Given the description of an element on the screen output the (x, y) to click on. 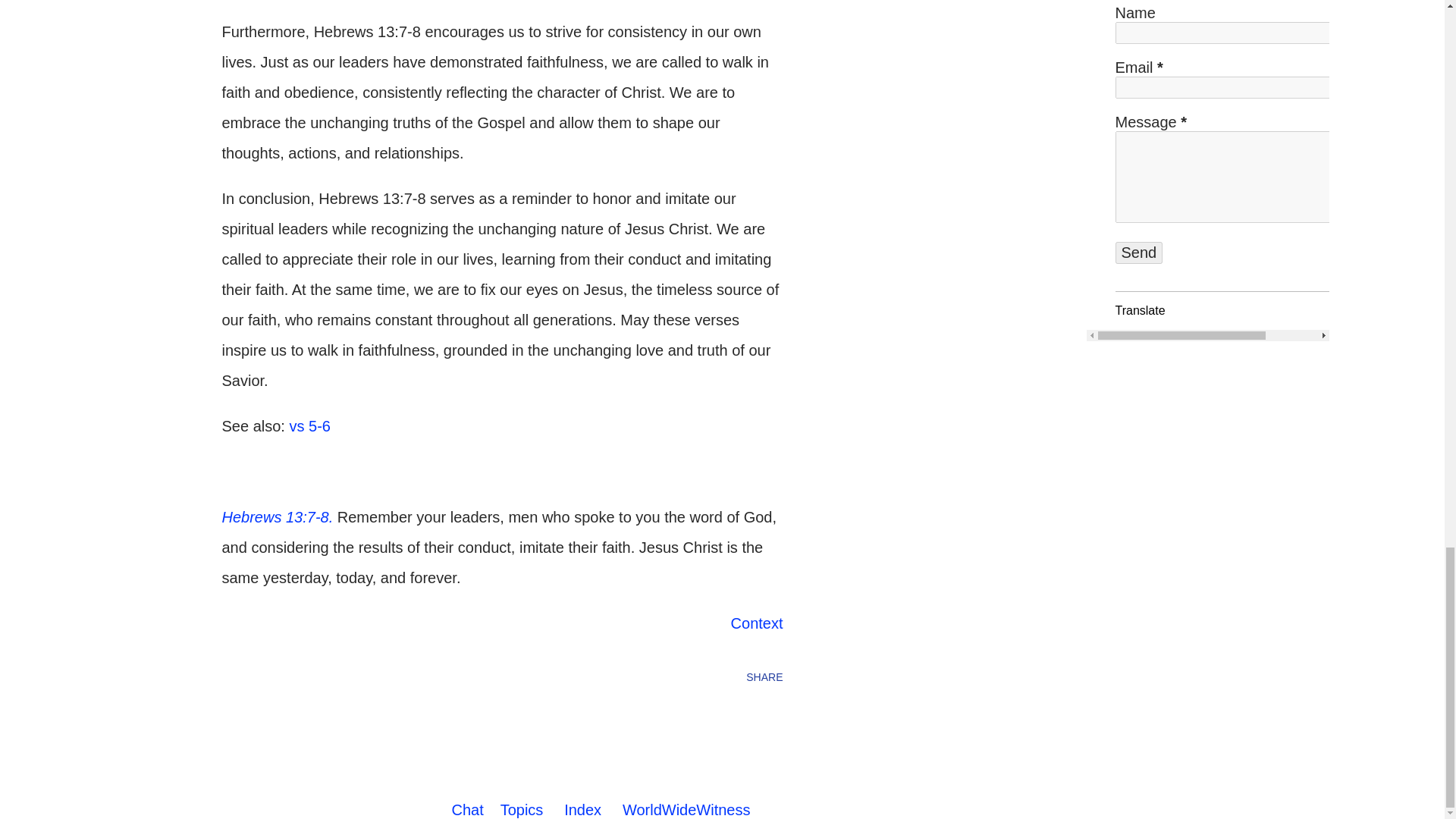
Email Post (230, 676)
Chat (467, 809)
SHARE (764, 677)
Send (1138, 252)
Topics (521, 809)
WorldWideWitness (687, 809)
vs 5-6 (309, 425)
Index (582, 809)
Context (756, 623)
Hebrews 13:7-8. (277, 516)
